Given the description of an element on the screen output the (x, y) to click on. 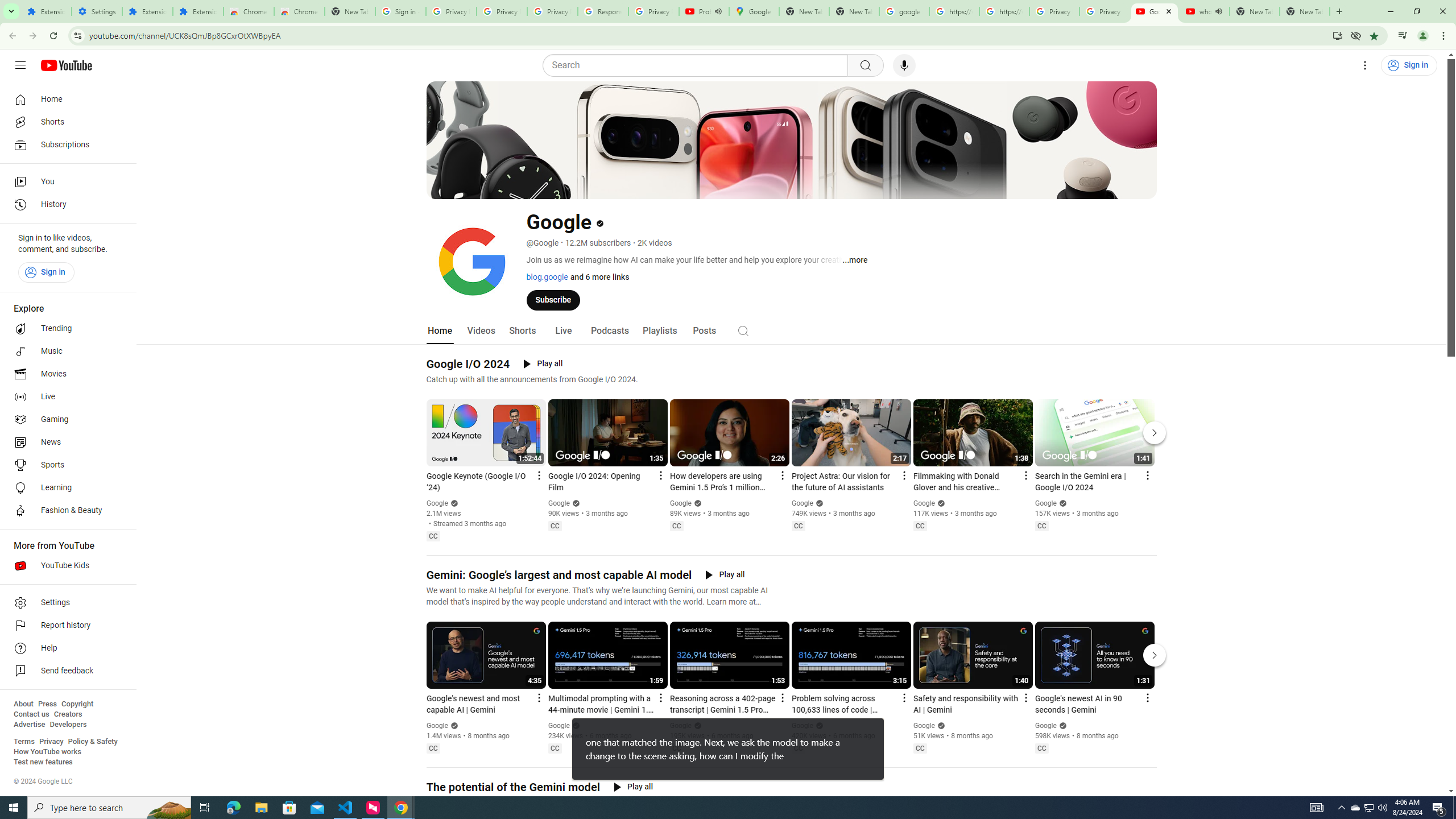
Policy & Safety (91, 741)
Fashion & Beauty (64, 510)
Search (742, 330)
Extensions (197, 11)
Minimize (1390, 11)
Report history (64, 625)
Search with your voice (903, 65)
blog.google (546, 276)
The potential of the Gemini model (512, 786)
Sports (64, 464)
Sign in - Google Accounts (399, 11)
Third-party cookies blocked (1355, 35)
